Given the description of an element on the screen output the (x, y) to click on. 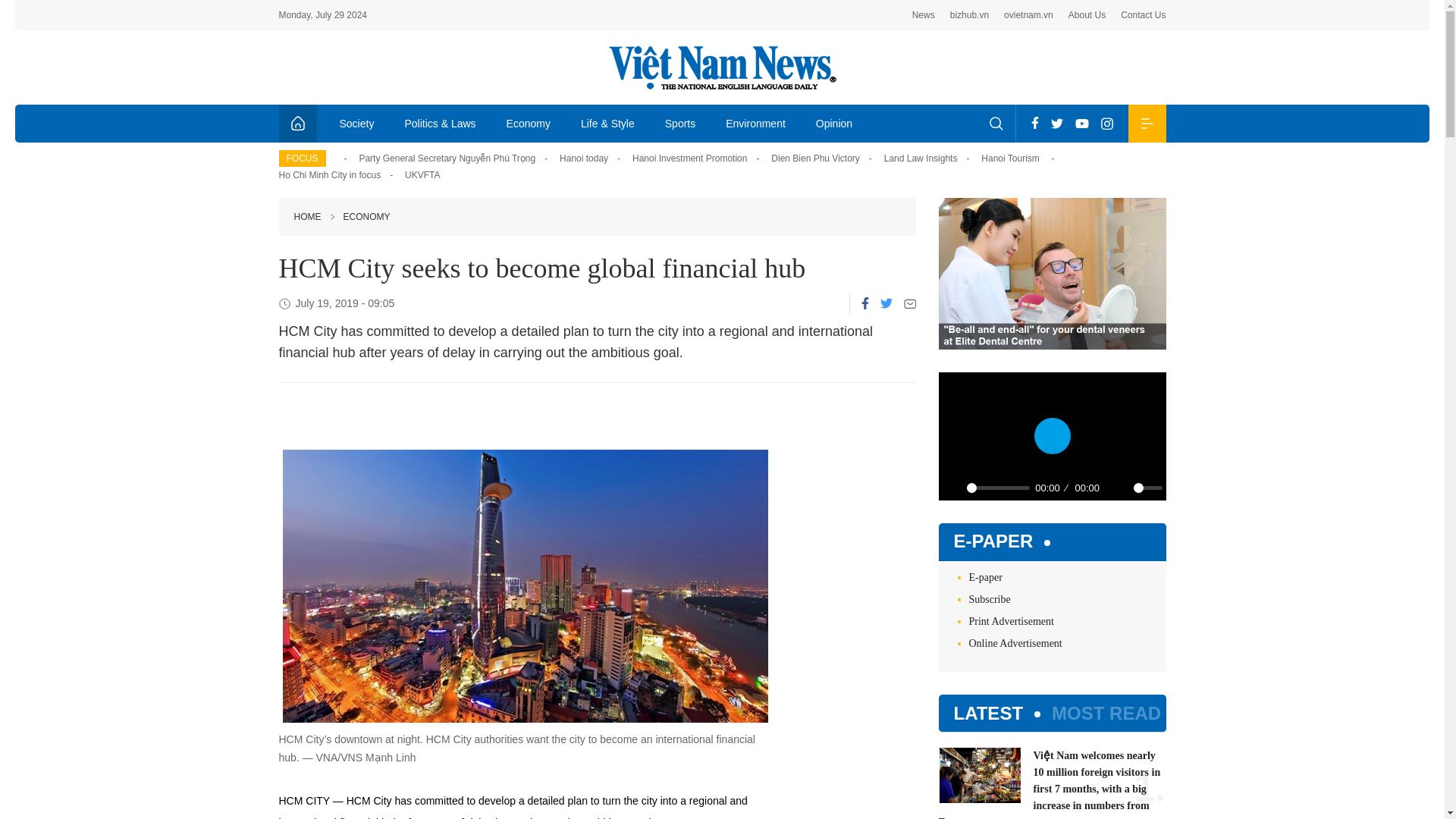
News (923, 15)
Society (357, 123)
Contact Us (1143, 15)
Twitter (885, 303)
About Us (1086, 15)
0 (1146, 487)
Email (909, 303)
Environment (755, 123)
Facebook (1035, 123)
bizhub.vn (969, 15)
Opinion (833, 123)
ovietnam.vn (1028, 15)
Twitter (1056, 122)
Instagram (1106, 123)
0 (997, 487)
